Given the description of an element on the screen output the (x, y) to click on. 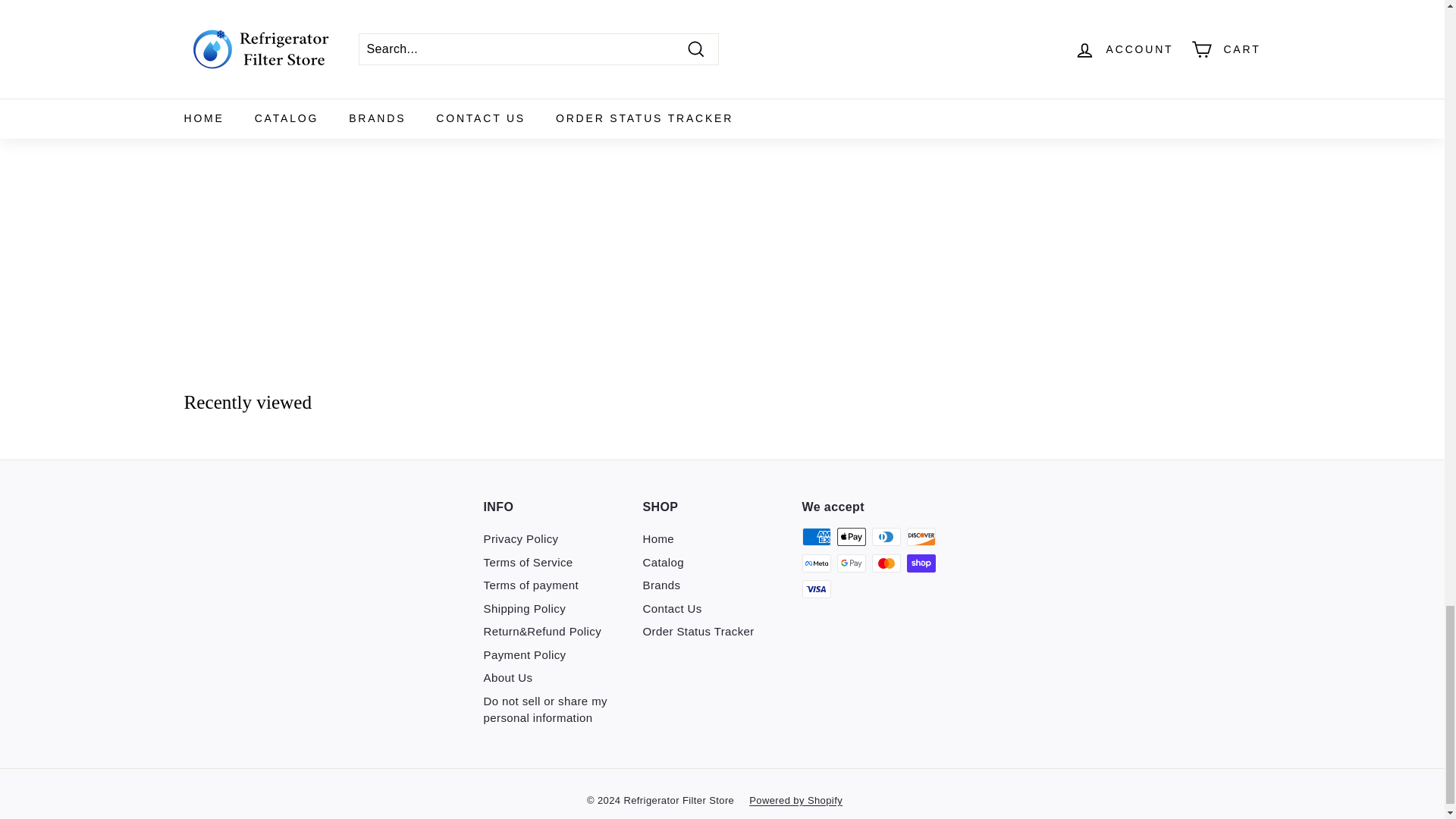
Electrolux (312, 10)
American Express (816, 536)
